Given the description of an element on the screen output the (x, y) to click on. 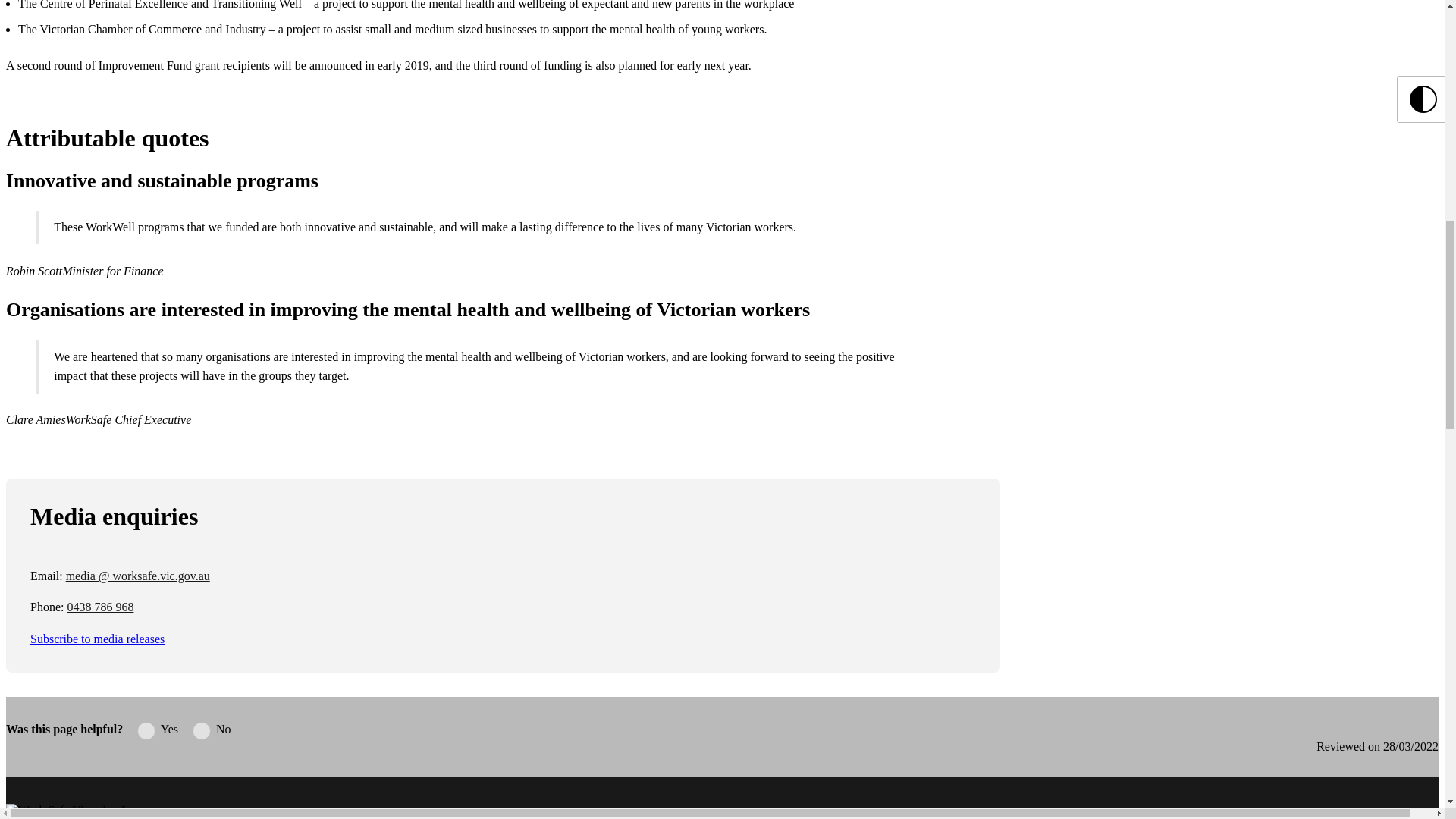
0438 786 968 (99, 606)
No (201, 730)
Yes (145, 730)
Subscribe to media releases (97, 638)
